Given the description of an element on the screen output the (x, y) to click on. 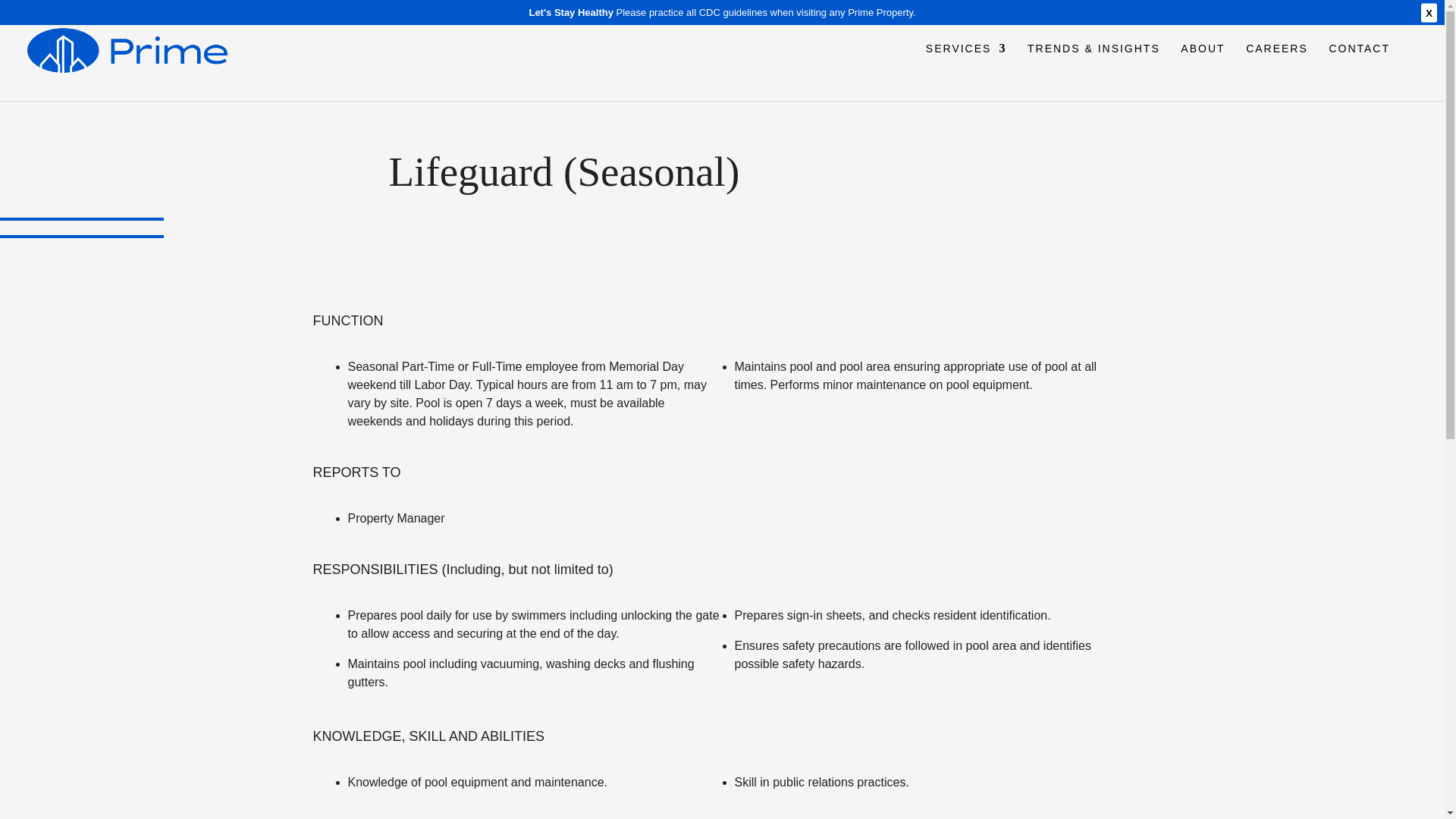
SERVICES (966, 70)
CONTACT (1358, 70)
CAREERS (1276, 70)
